Given the description of an element on the screen output the (x, y) to click on. 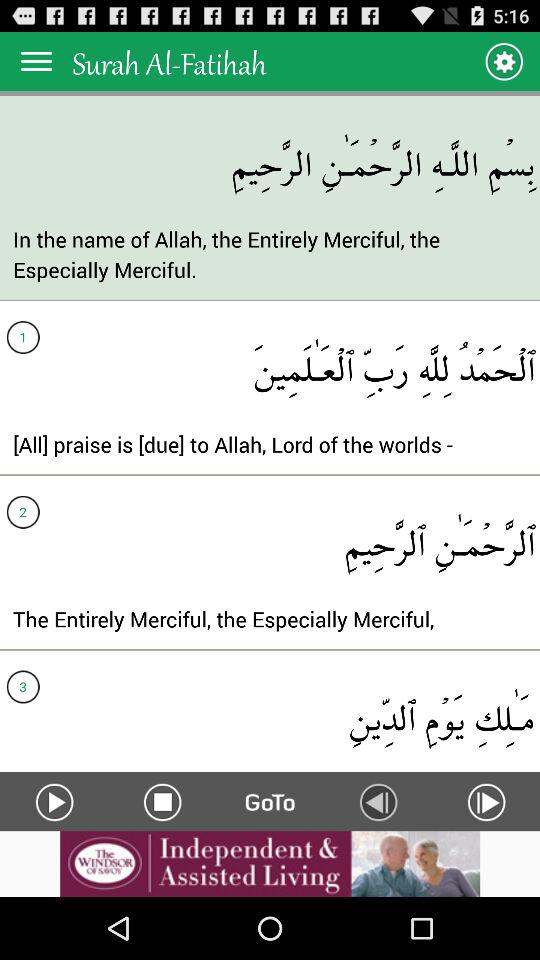
select the menu option (36, 60)
